Given the description of an element on the screen output the (x, y) to click on. 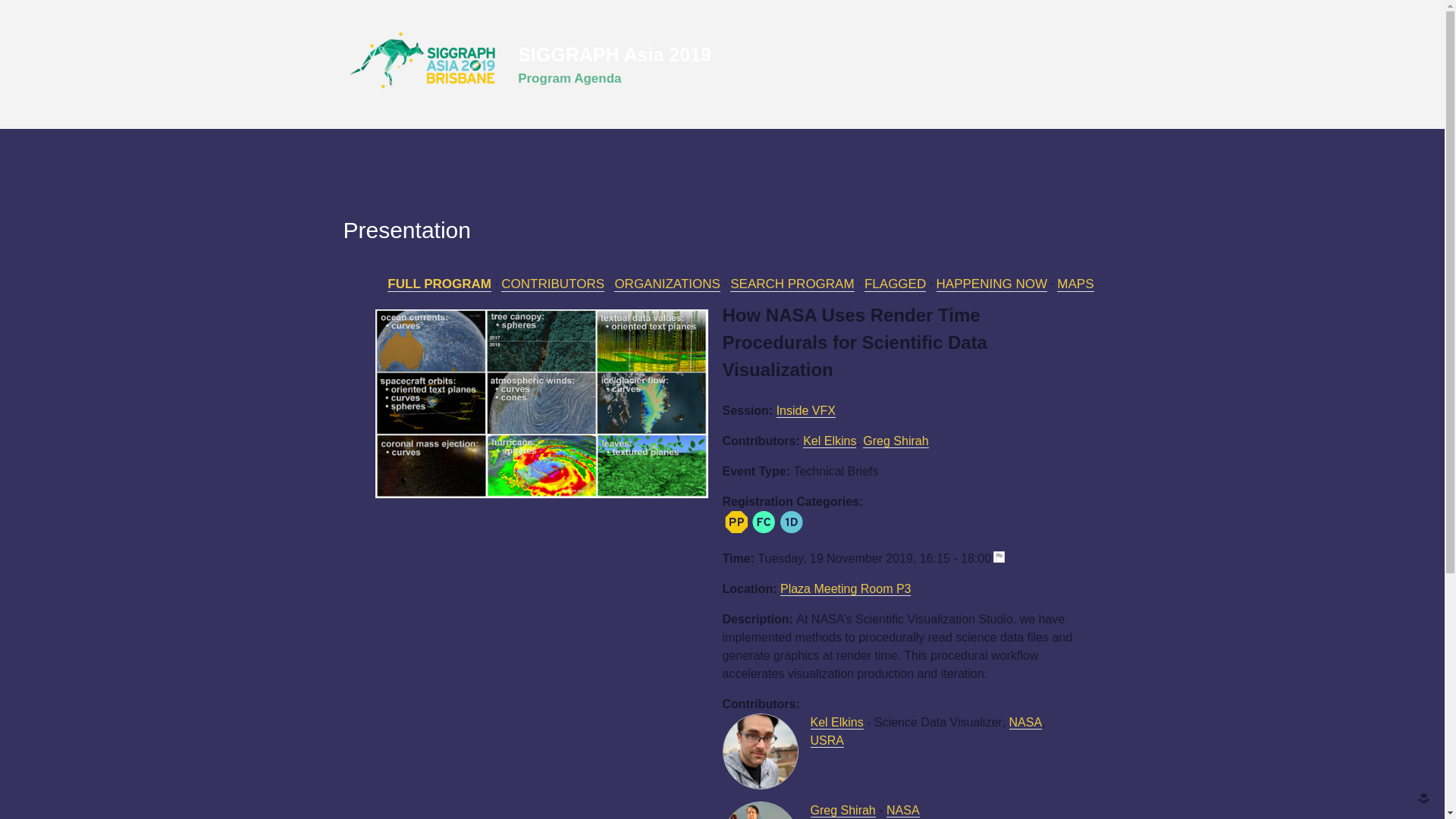
CONTRIBUTORS (552, 283)
Kel Elkins (836, 722)
Greg Shirah (895, 440)
Plaza Meeting Room P3 (845, 589)
NASA (903, 810)
Inside VFX (805, 410)
MAPS (1075, 283)
FULL PROGRAM (439, 283)
add to Flagged (1004, 558)
SEARCH PROGRAM (791, 283)
FLAGGED (895, 283)
Kel Elkins (829, 440)
HAPPENING NOW (991, 283)
People with a Full Conference Pass can attend (763, 522)
People with a Platinum Pass can attend (735, 522)
